Given the description of an element on the screen output the (x, y) to click on. 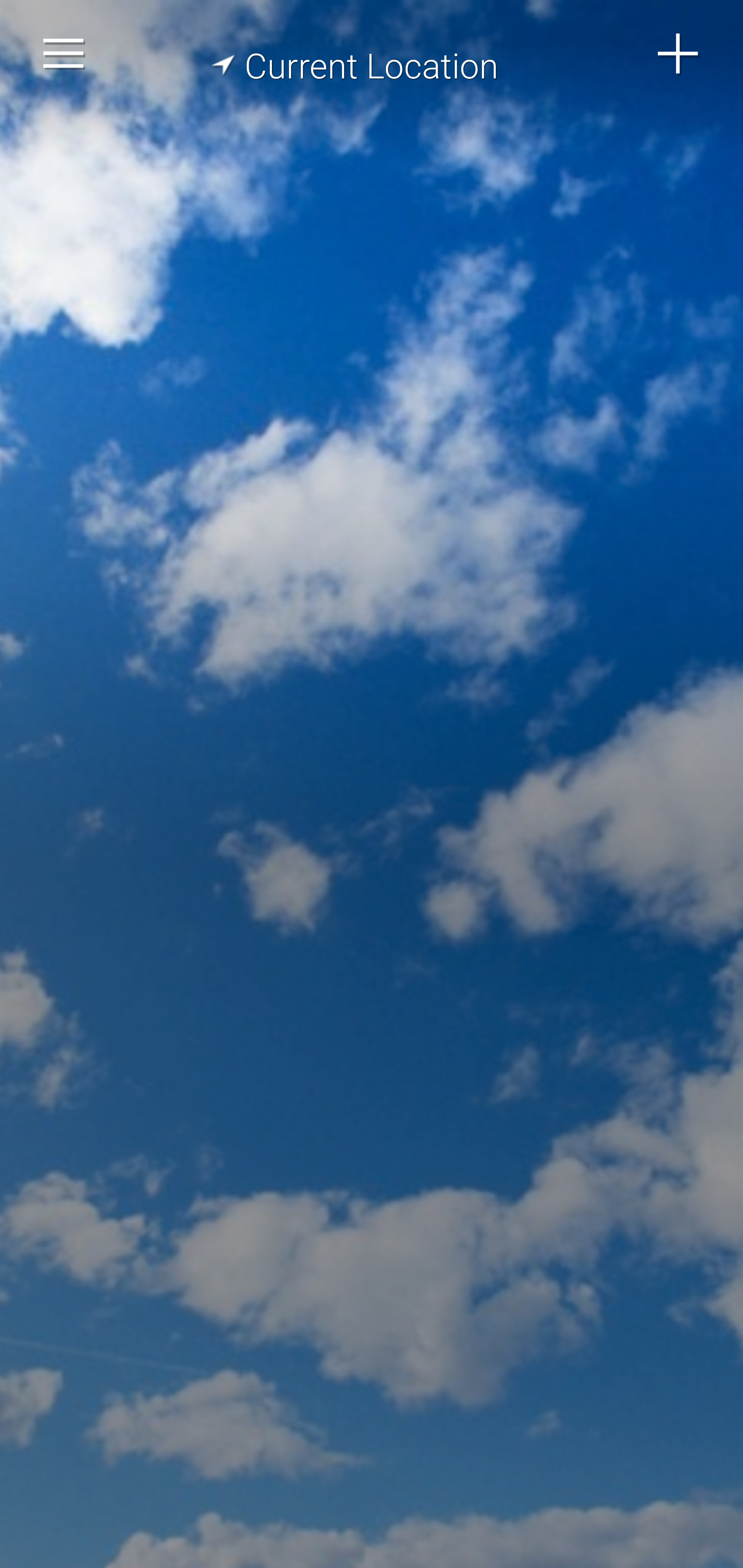
Sidebar (64, 54)
Add City (678, 53)
